Given the description of an element on the screen output the (x, y) to click on. 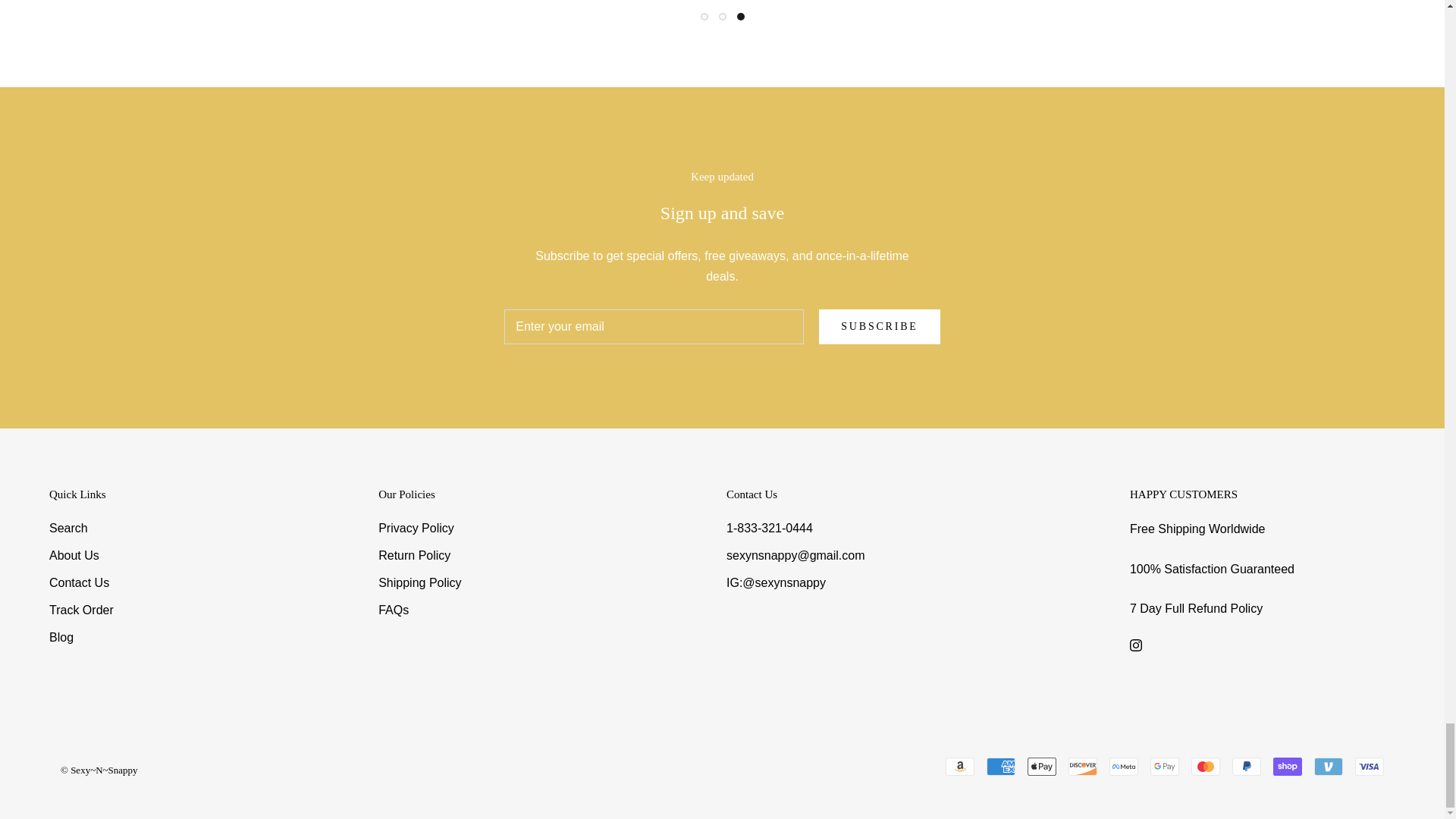
Shop Pay (1286, 766)
Discover (1082, 766)
American Express (1000, 766)
Meta Pay (1123, 766)
Visa (1369, 766)
Amazon (959, 766)
Google Pay (1164, 766)
Apple Pay (1042, 766)
Mastercard (1205, 766)
Venmo (1328, 766)
PayPal (1245, 766)
